Given the description of an element on the screen output the (x, y) to click on. 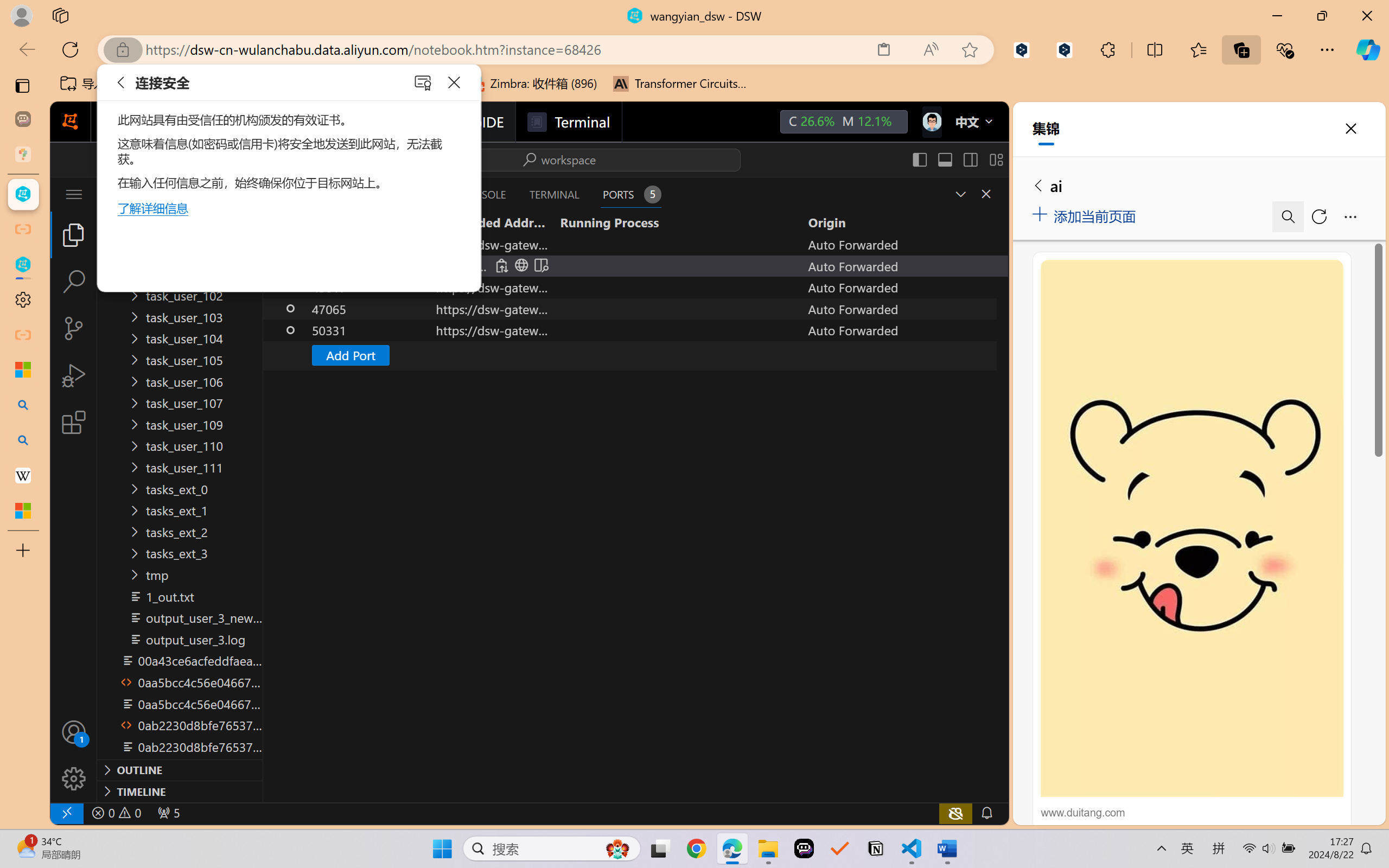
Title actions (957, 159)
copilot-notconnected, Copilot error (click for details) (955, 812)
Terminal (Ctrl+`) (553, 194)
Terminal (568, 121)
remote (66, 812)
